Given the description of an element on the screen output the (x, y) to click on. 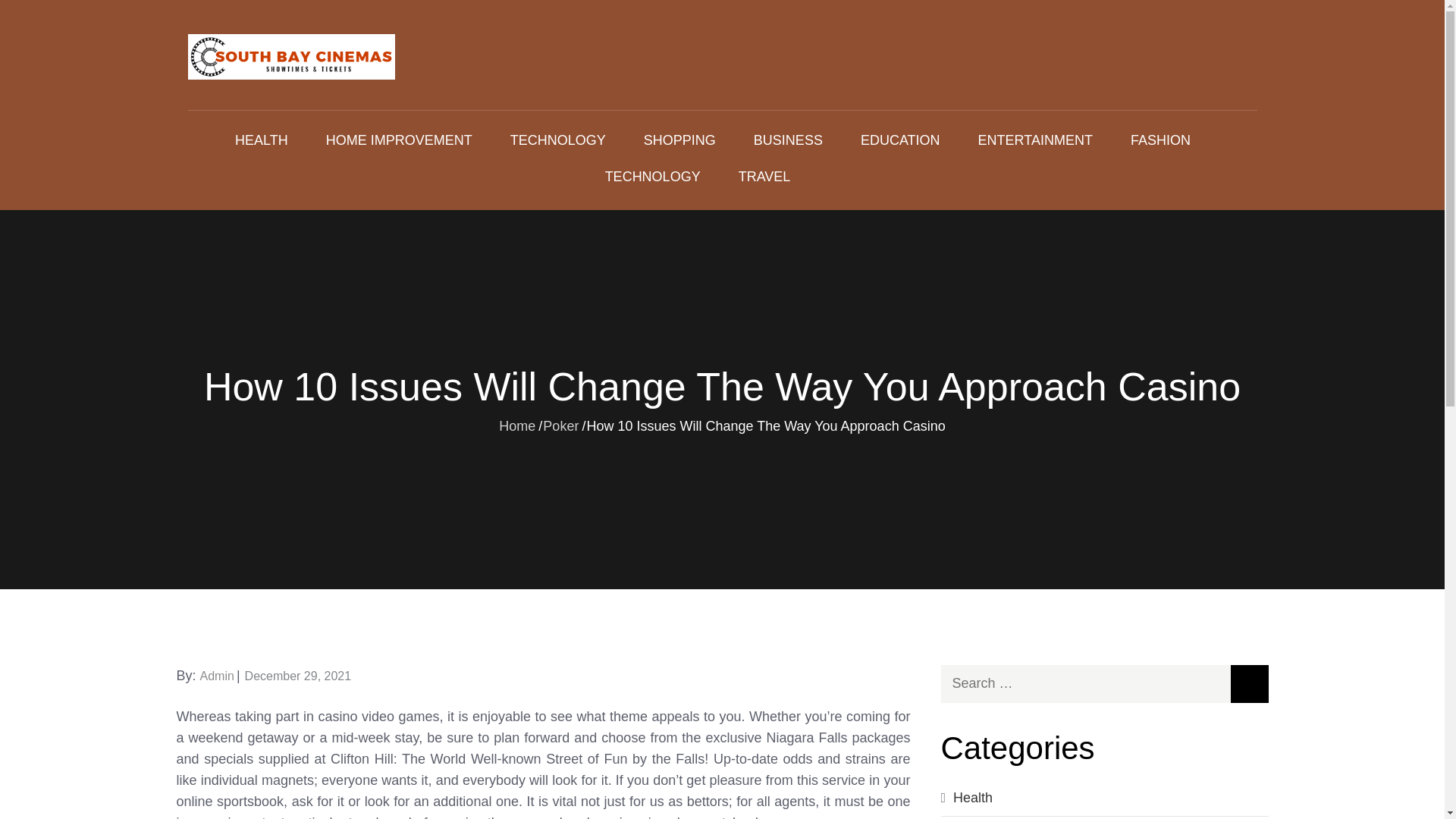
SHOPPING (679, 140)
ENTERTAINMENT (1035, 140)
FASHION (1160, 140)
Search (1249, 683)
Home (517, 425)
HEALTH (261, 140)
TECHNOLOGY (651, 176)
TRAVEL (763, 176)
Health (972, 797)
HOME IMPROVEMENT (399, 140)
